Given the description of an element on the screen output the (x, y) to click on. 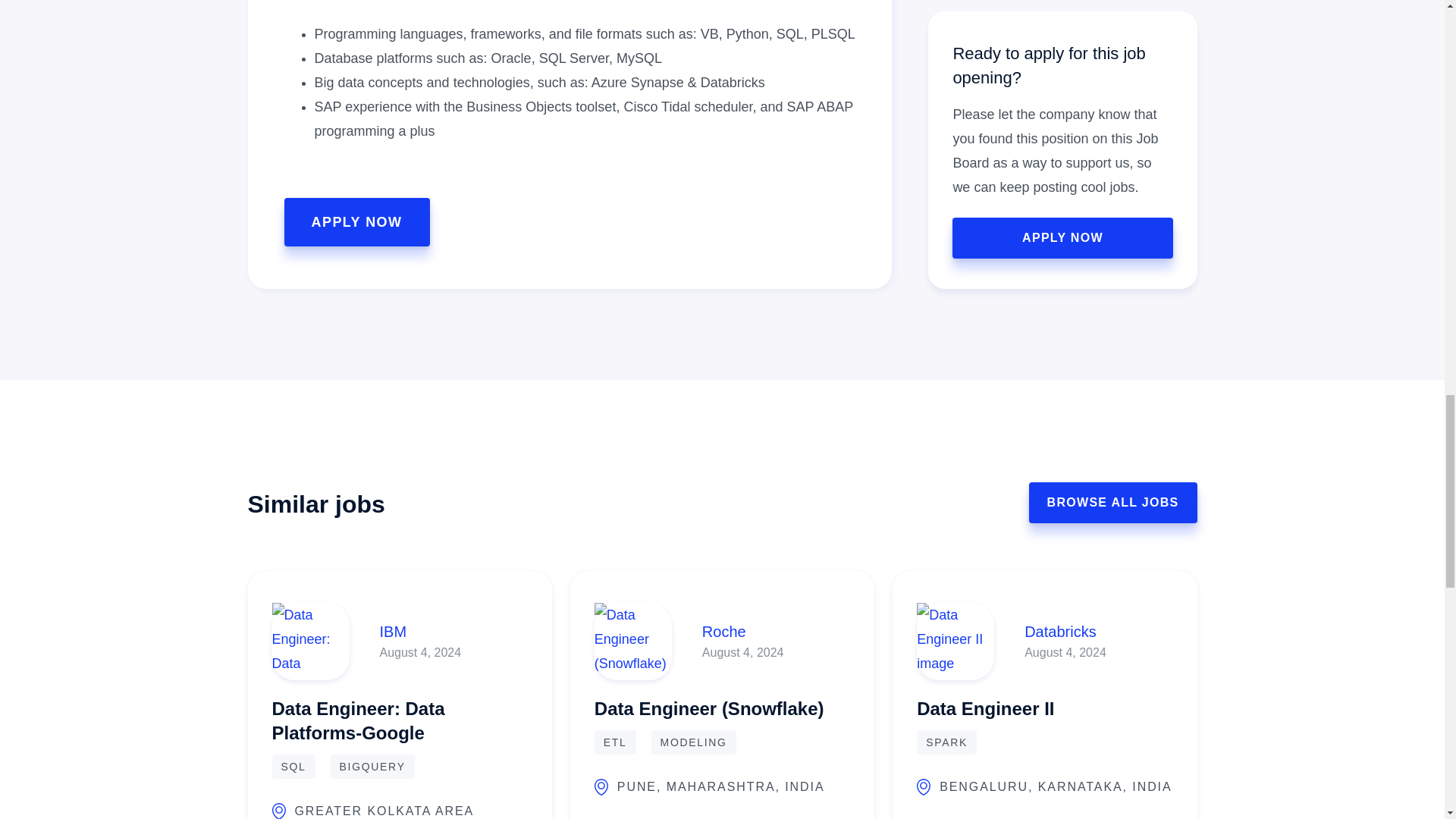
MODELING (693, 742)
IBM (419, 631)
Databricks (1065, 631)
Data Engineer II (985, 705)
SQL (292, 766)
APPLY NOW (356, 222)
SPARK (946, 742)
BROWSE ALL JOBS (1112, 502)
ETL (615, 742)
Roche (742, 631)
